Given the description of an element on the screen output the (x, y) to click on. 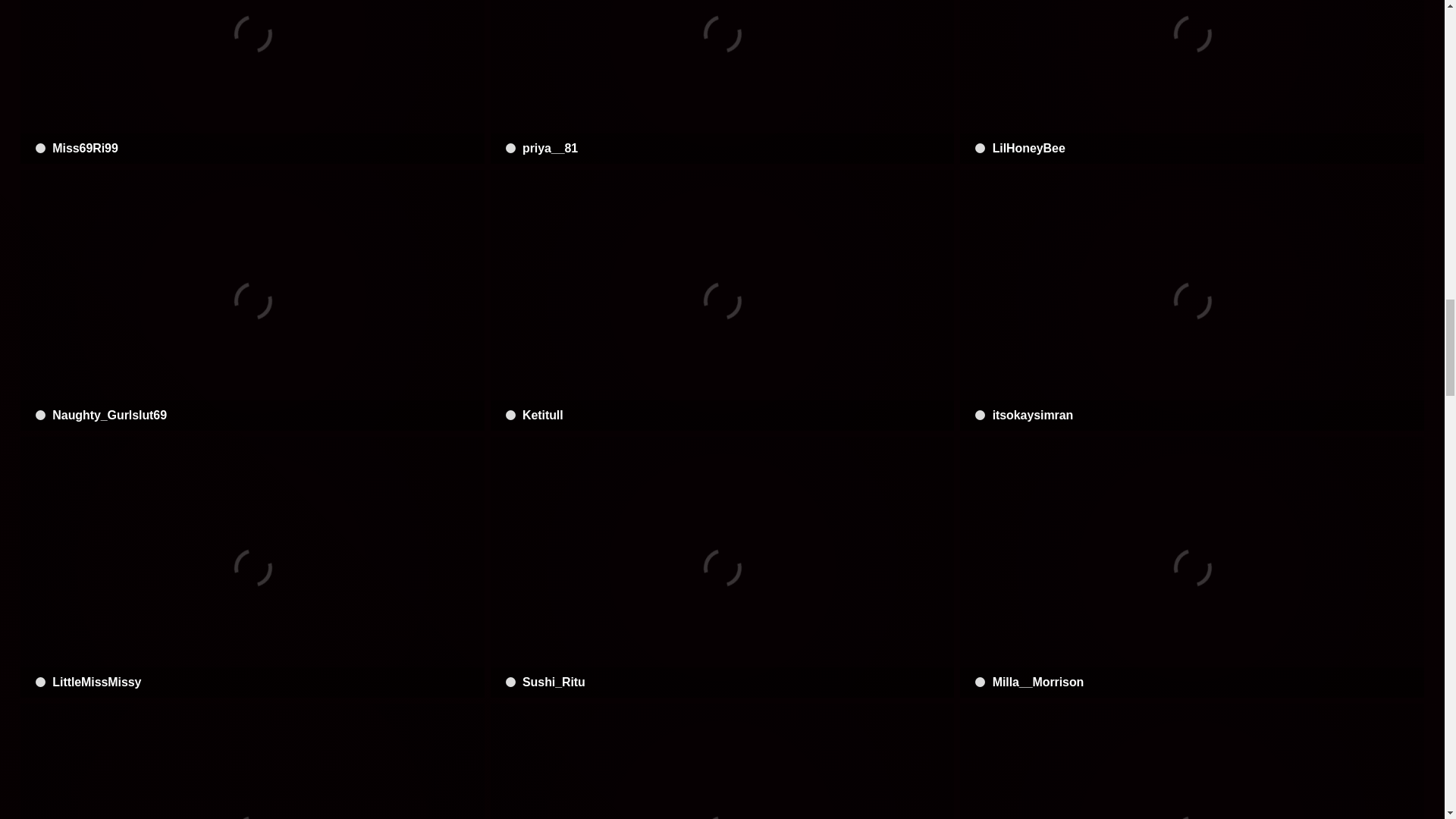
Miss69Ri99 (252, 81)
LittleMissMissy (252, 566)
itsokaysimran (1191, 299)
Ketitull (722, 299)
mariyaqueen (722, 761)
LilHoneyBee (1191, 81)
LuccianLove (1191, 761)
